Given the description of an element on the screen output the (x, y) to click on. 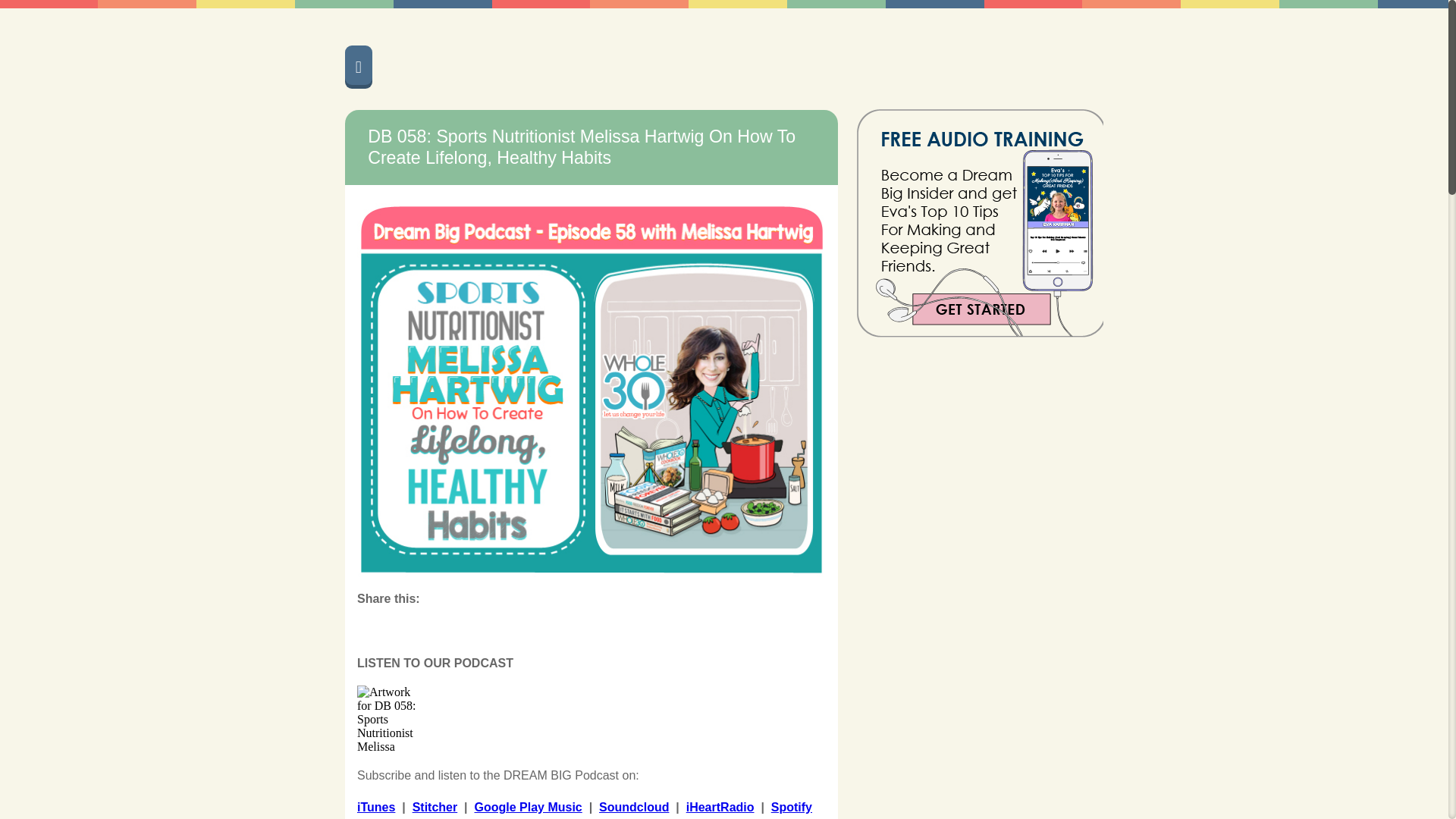
Spotify (791, 807)
iHeartRadio (719, 807)
iTunes (375, 807)
Soundcloud (633, 807)
Stitcher (435, 807)
Google Play Music (527, 807)
Dreambigpodcast (645, 65)
